Given the description of an element on the screen output the (x, y) to click on. 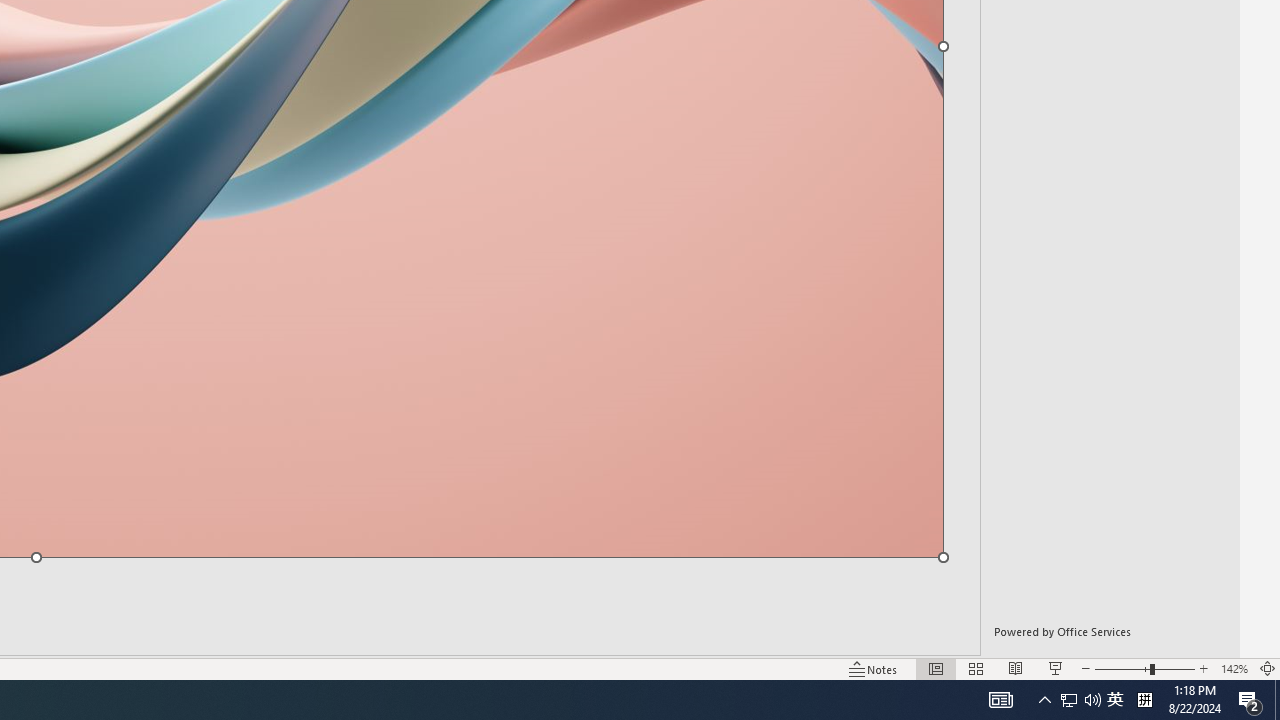
Zoom 142% (1234, 668)
